Given the description of an element on the screen output the (x, y) to click on. 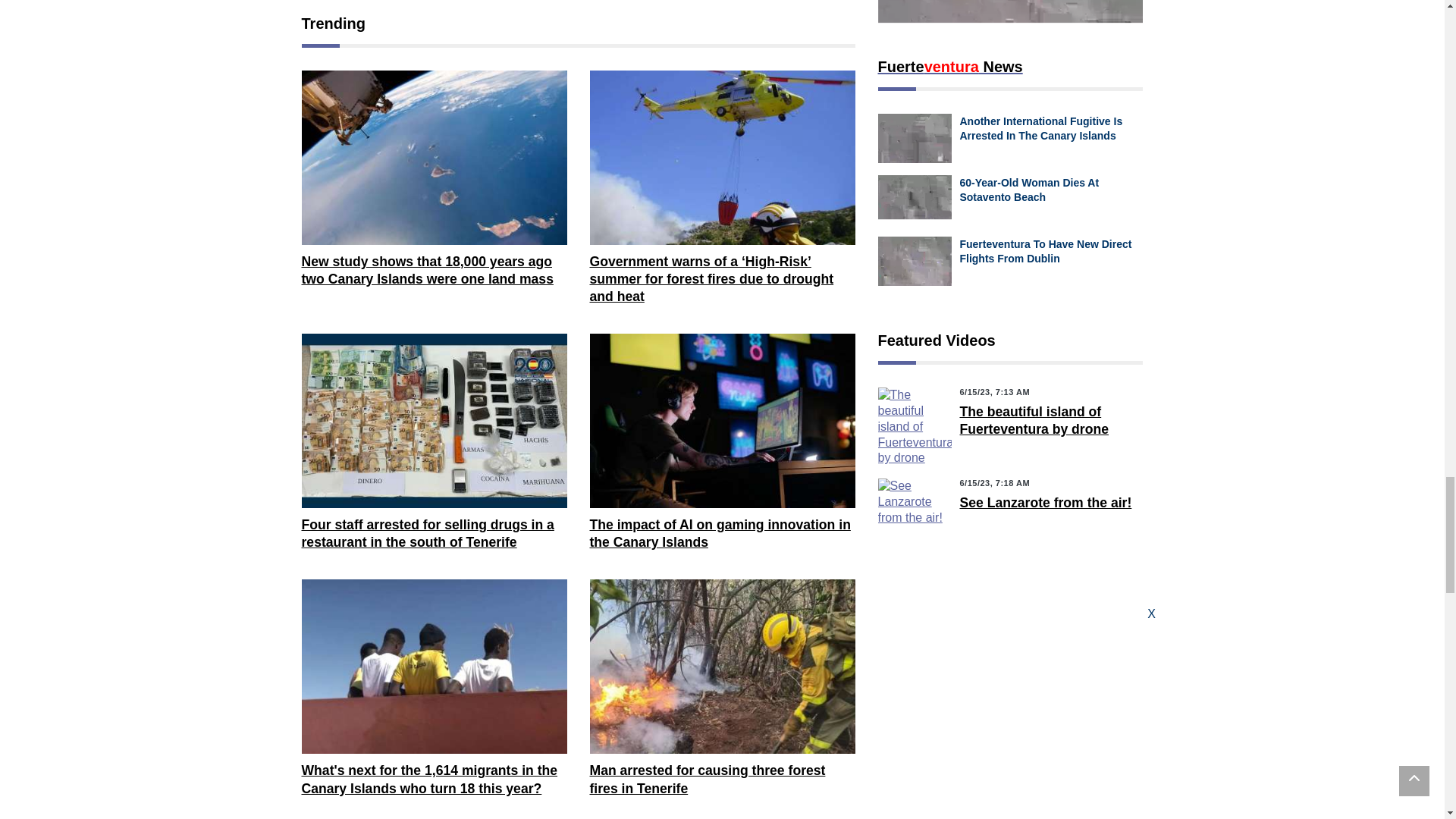
Man arrested for causing three forest fires in Tenerife (722, 666)
The impact of AI on gaming innovation in the Canary Islands (722, 420)
